Given the description of an element on the screen output the (x, y) to click on. 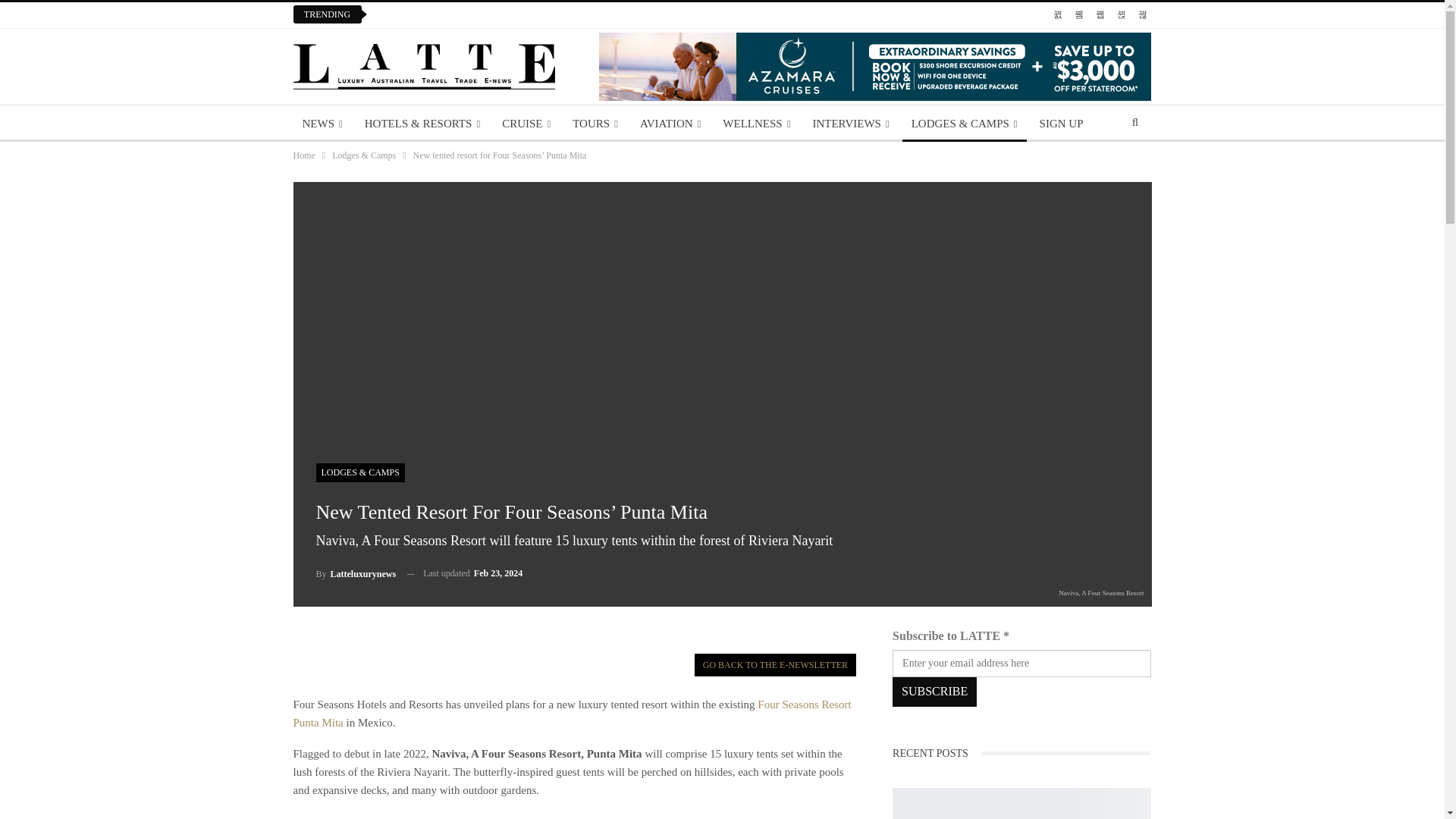
NEWS (321, 123)
